Given the description of an element on the screen output the (x, y) to click on. 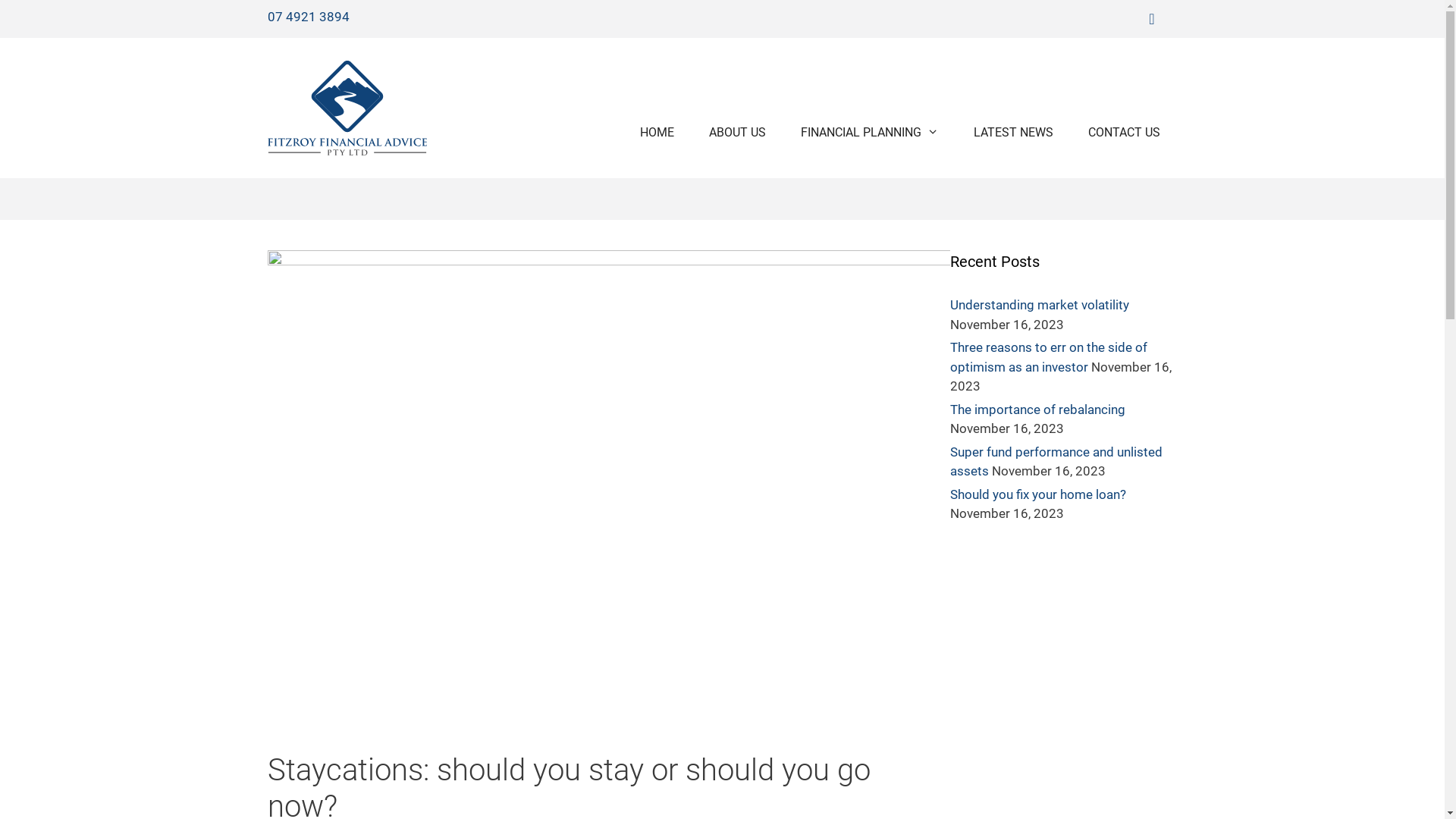
LATEST NEWS Element type: text (1012, 132)
The importance of rebalancing Element type: text (1036, 409)
Should you fix your home loan? Element type: text (1037, 494)
Understanding market volatility Element type: text (1038, 304)
Super fund performance and unlisted assets Element type: text (1055, 461)
CONTACT US Element type: text (1123, 132)
ABOUT US Element type: text (737, 132)
HOME Element type: text (656, 132)
Three reasons to err on the side of optimism as an investor Element type: text (1047, 356)
FINANCIAL PLANNING Element type: text (869, 132)
